Given the description of an element on the screen output the (x, y) to click on. 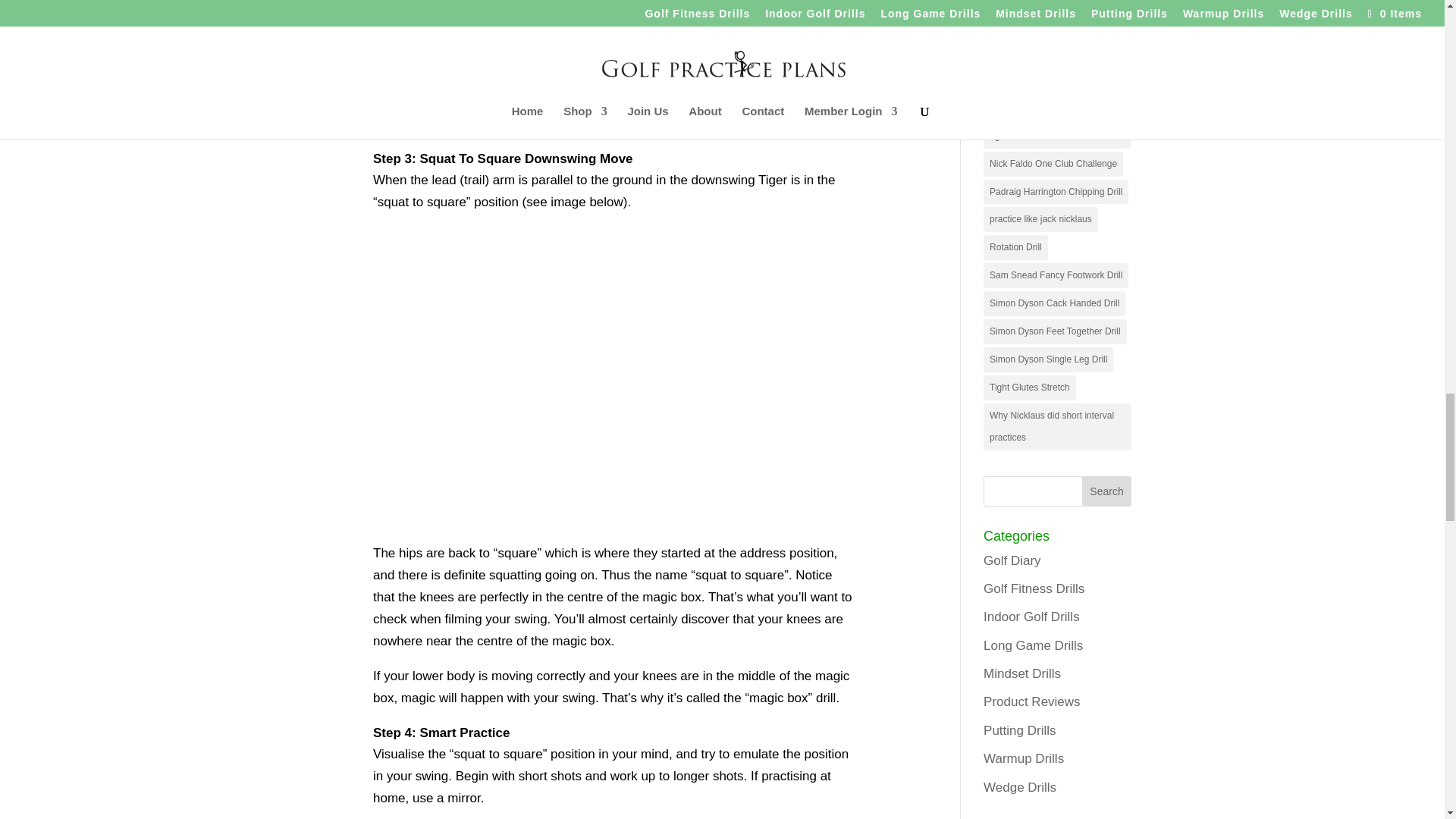
Search (1106, 490)
